Given the description of an element on the screen output the (x, y) to click on. 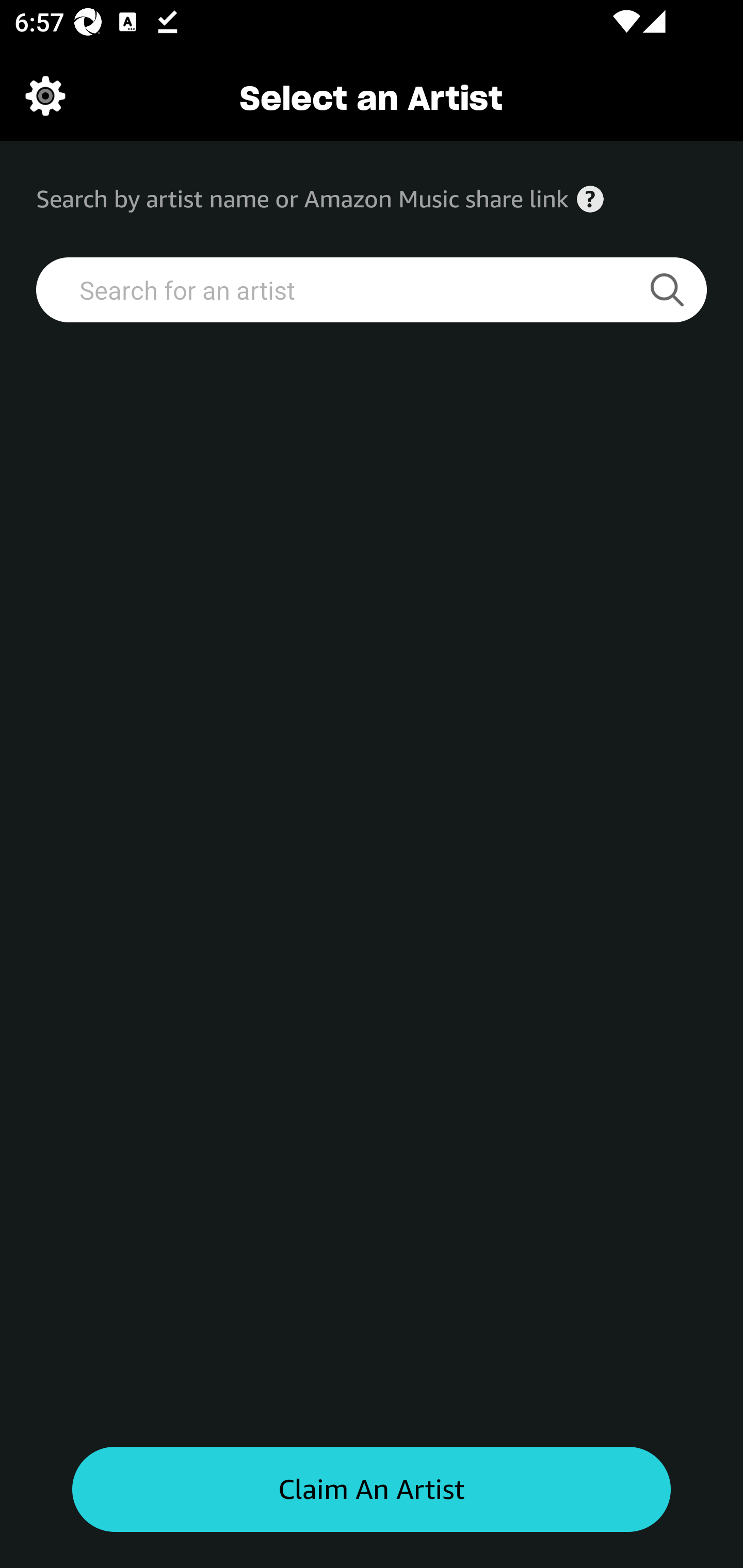
Help  icon (589, 199)
Claim an artist button Claim An Artist (371, 1489)
